Given the description of an element on the screen output the (x, y) to click on. 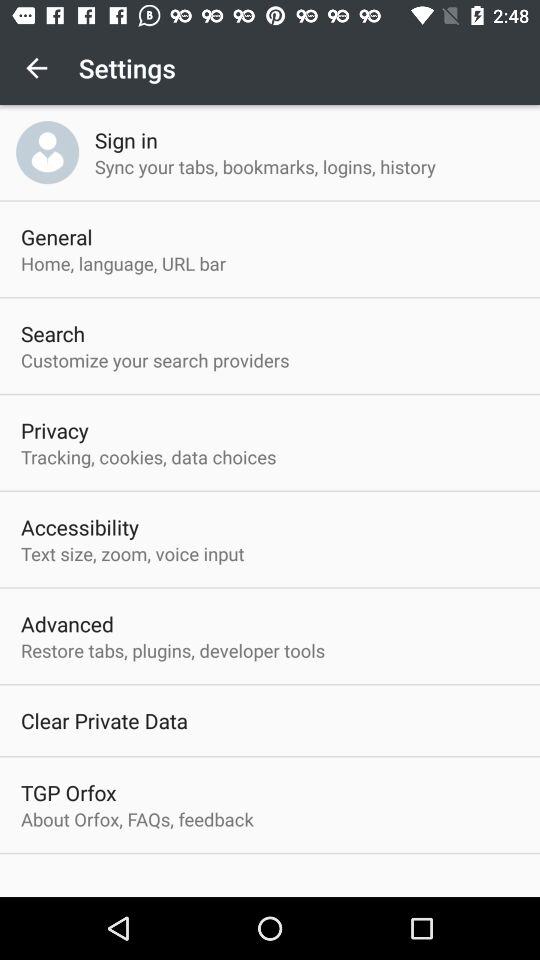
turn off privacy (54, 430)
